Given the description of an element on the screen output the (x, y) to click on. 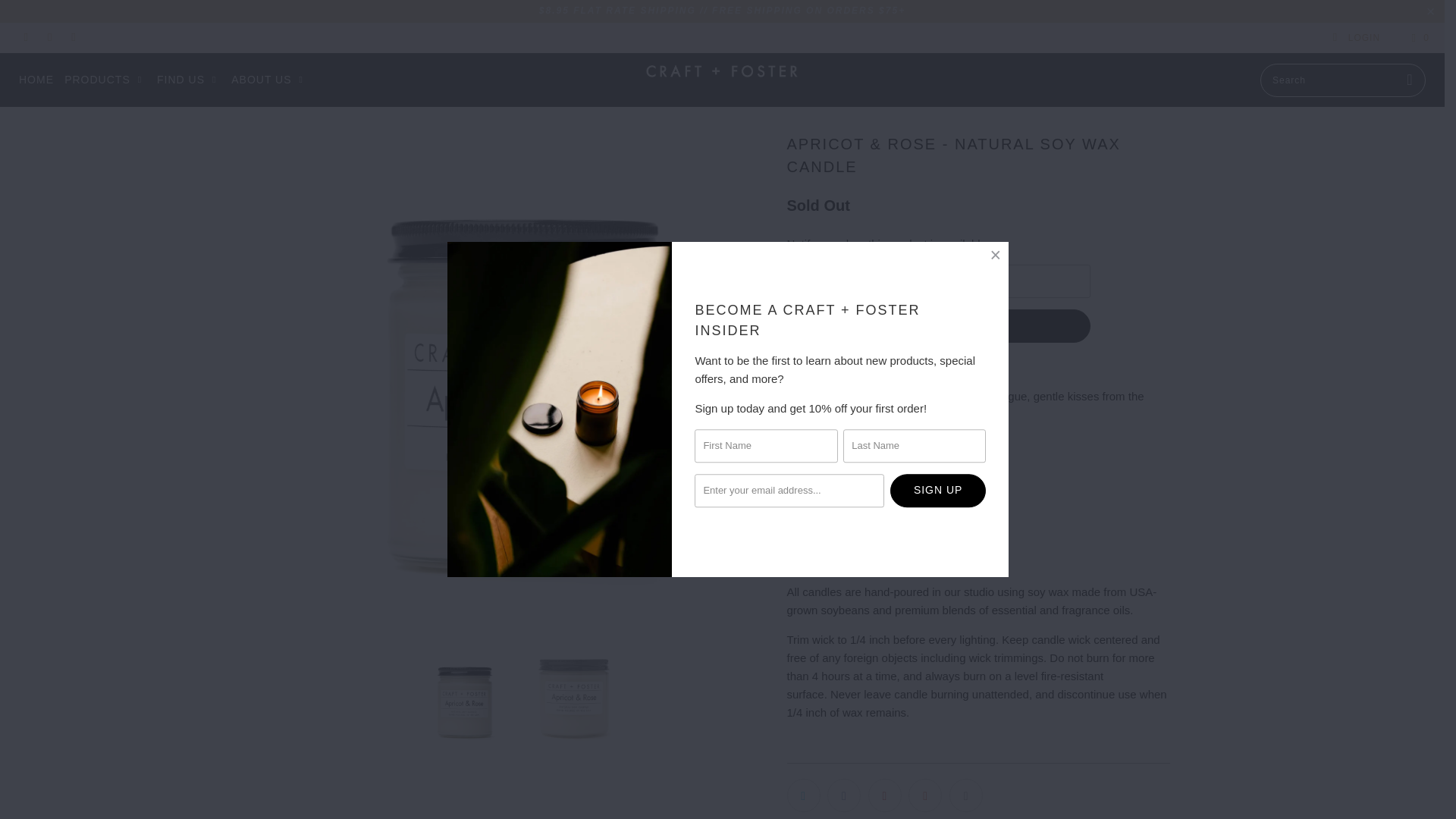
Email this to a friend (965, 795)
Share this on Facebook (843, 795)
Sign Up (937, 490)
Send (938, 326)
My Account  (1355, 37)
Share this on Twitter (804, 795)
Share this on Pinterest (884, 795)
